Given the description of an element on the screen output the (x, y) to click on. 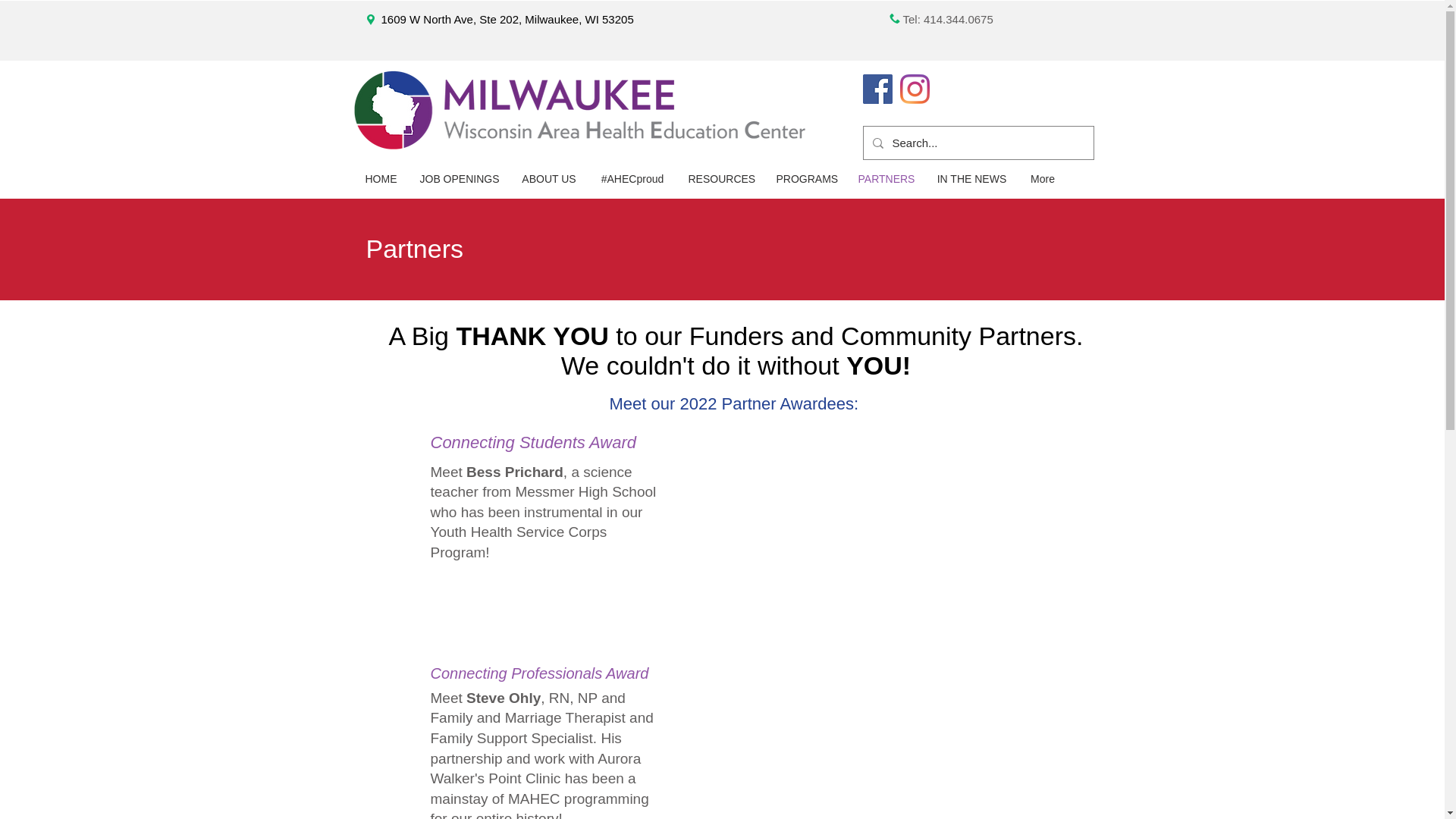
IN THE NEWS (971, 179)
HOME (380, 179)
PARTNERS (884, 179)
PROGRAMS (804, 179)
ABOUT US (548, 179)
JOB OPENINGS (458, 179)
RESOURCES (720, 179)
